Given the description of an element on the screen output the (x, y) to click on. 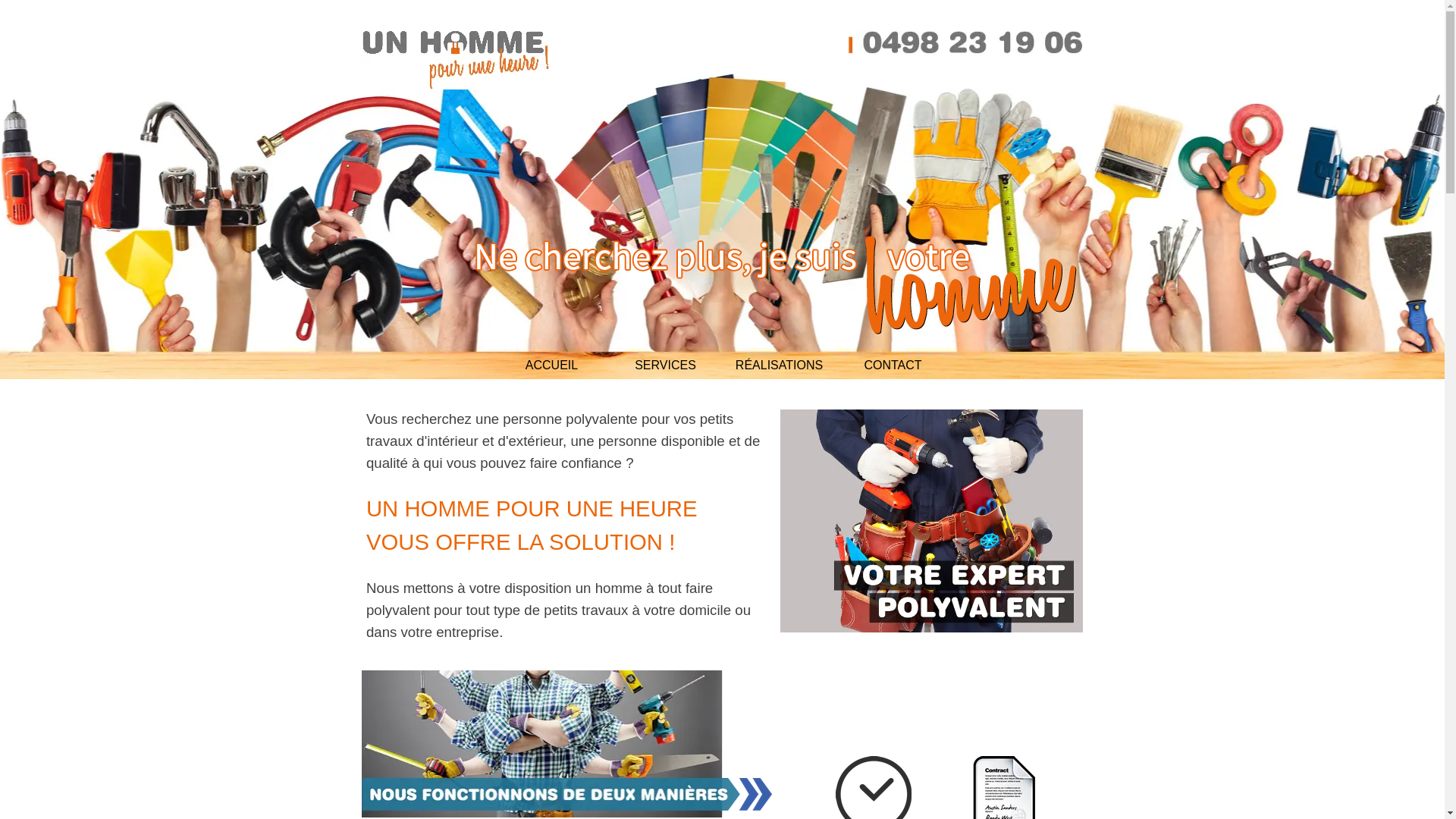
accueil03 Element type: hover (721, 224)
ACCUEIL Element type: text (551, 364)
CONTACT Element type: text (893, 364)
SERVICES Element type: text (665, 364)
